Given the description of an element on the screen output the (x, y) to click on. 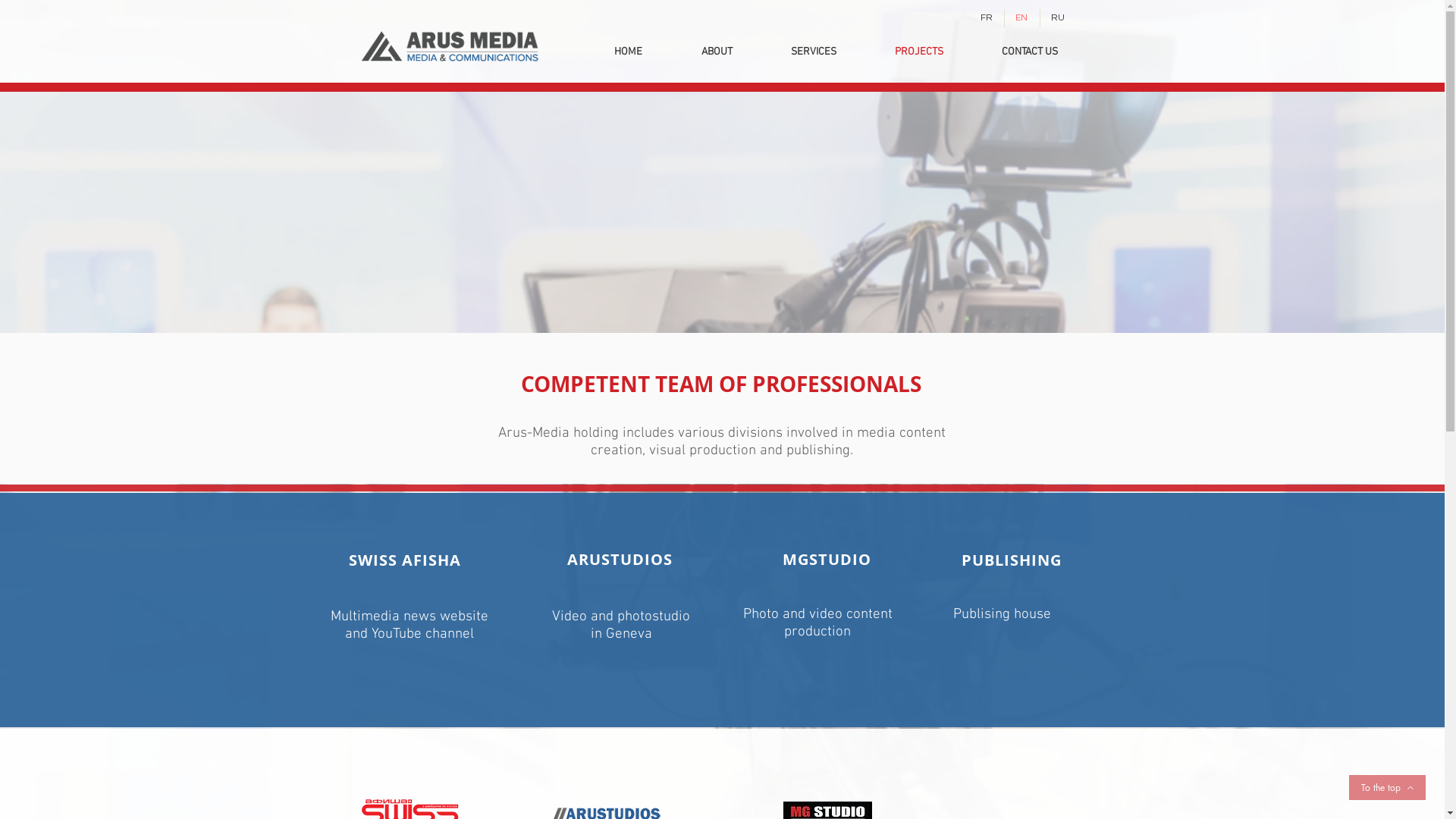
EN Element type: text (1021, 18)
PROJECTS Element type: text (919, 51)
HOME Element type: text (627, 51)
ABOUT Element type: text (716, 51)
SERVICES Element type: text (813, 51)
To the top Element type: text (1387, 787)
FR Element type: text (986, 18)
CONTACT US Element type: text (1029, 51)
RU Element type: text (1057, 18)
